Given the description of an element on the screen output the (x, y) to click on. 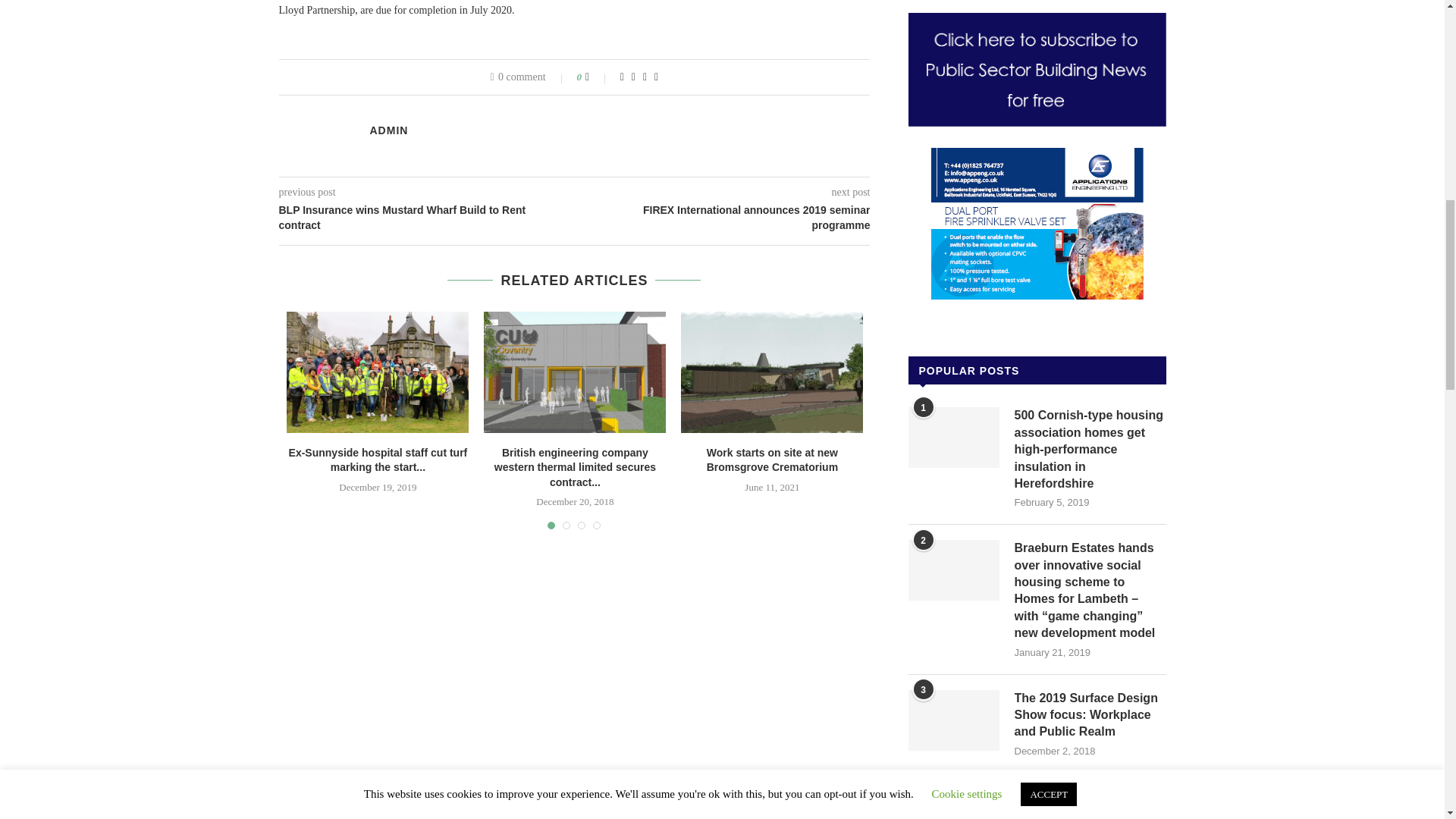
Like (597, 77)
ADMIN (389, 130)
Work starts on site at new Bromsgrove Crematorium (772, 372)
Posts by admin (389, 130)
